Given the description of an element on the screen output the (x, y) to click on. 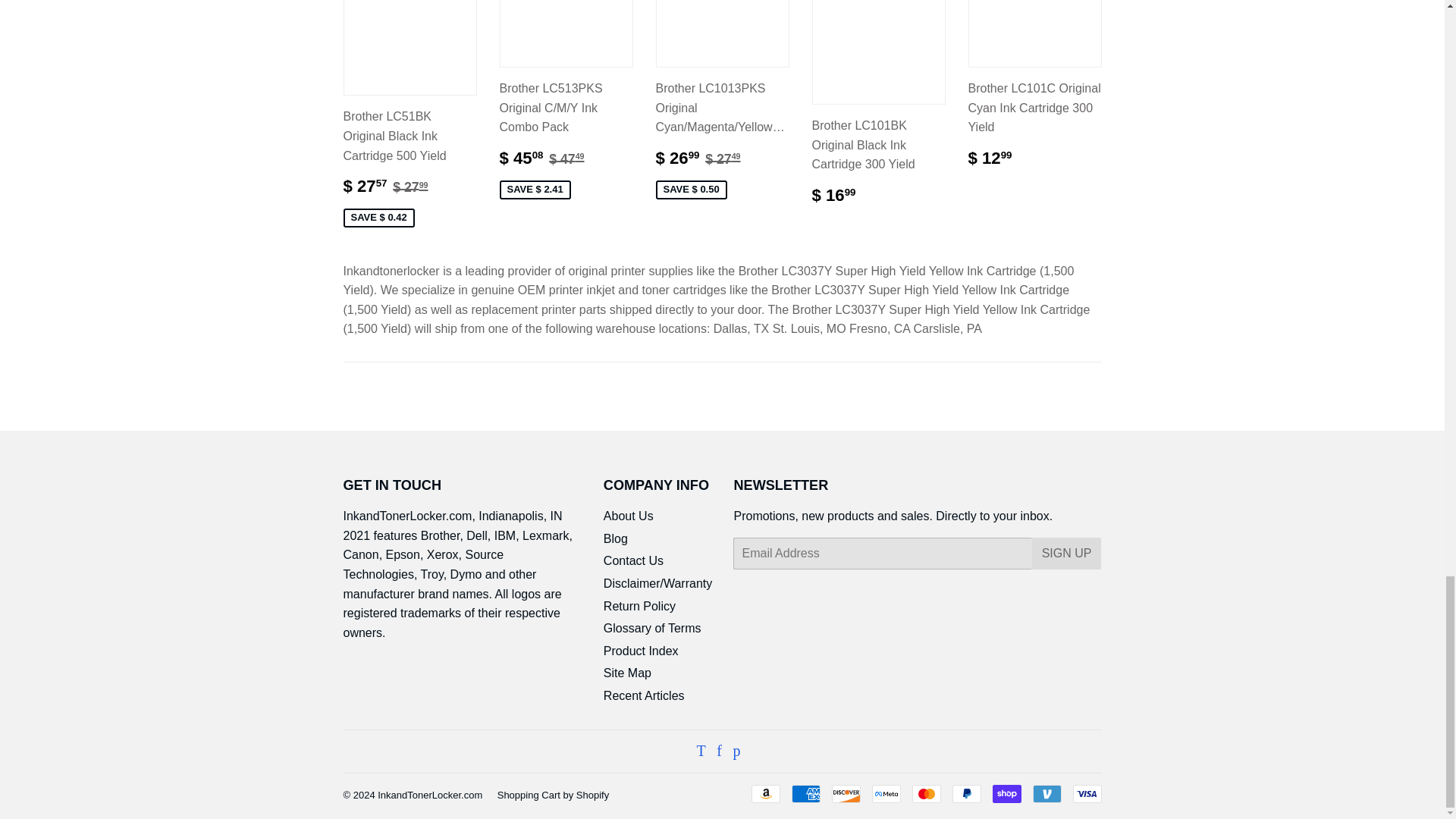
PayPal (966, 793)
Meta Pay (886, 793)
Mastercard (925, 793)
Visa (1085, 793)
American Express (806, 793)
Shop Pay (1005, 793)
Discover (845, 793)
Venmo (1046, 793)
Amazon (764, 793)
